Given the description of an element on the screen output the (x, y) to click on. 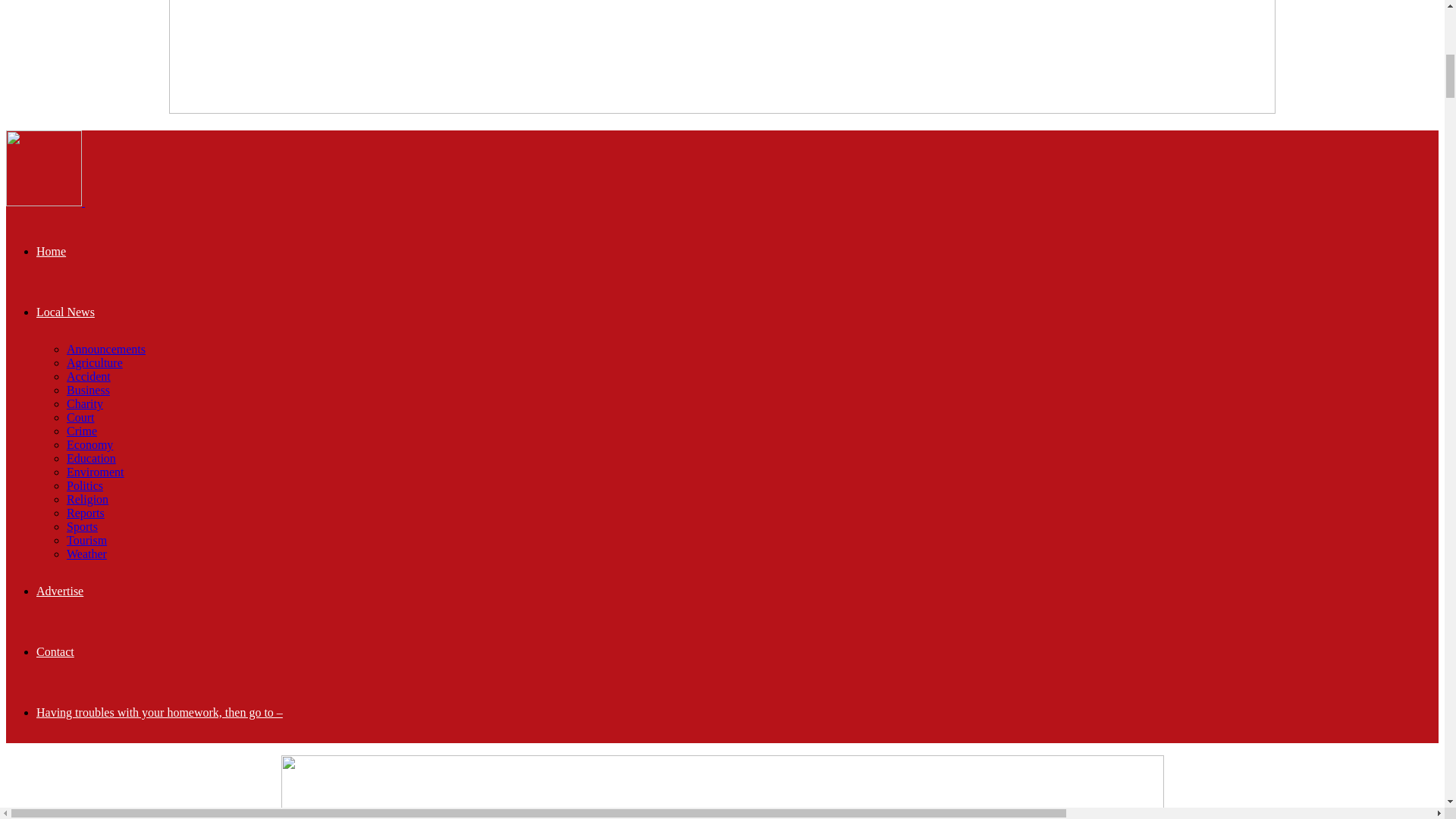
Home (50, 250)
Local News (65, 311)
Announcements (105, 349)
